Given the description of an element on the screen output the (x, y) to click on. 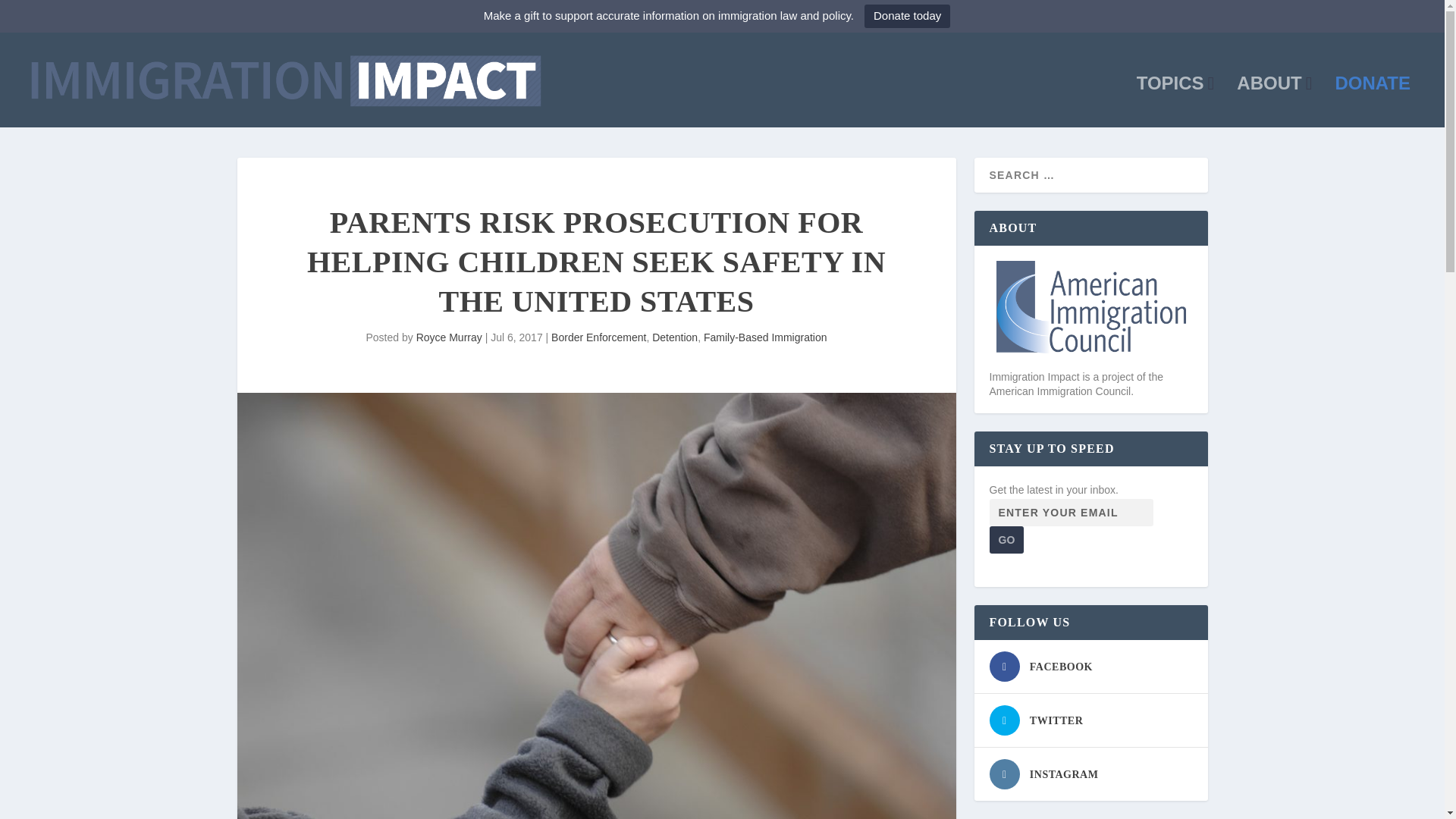
GO (1005, 539)
Detention (674, 337)
Border Enforcement (598, 337)
TOPICS (1175, 101)
Royce Murray (448, 337)
ABOUT (1273, 101)
Posts by Royce Murray (448, 337)
DONATE (1372, 101)
Donate today (907, 15)
Family-Based Immigration (765, 337)
